Given the description of an element on the screen output the (x, y) to click on. 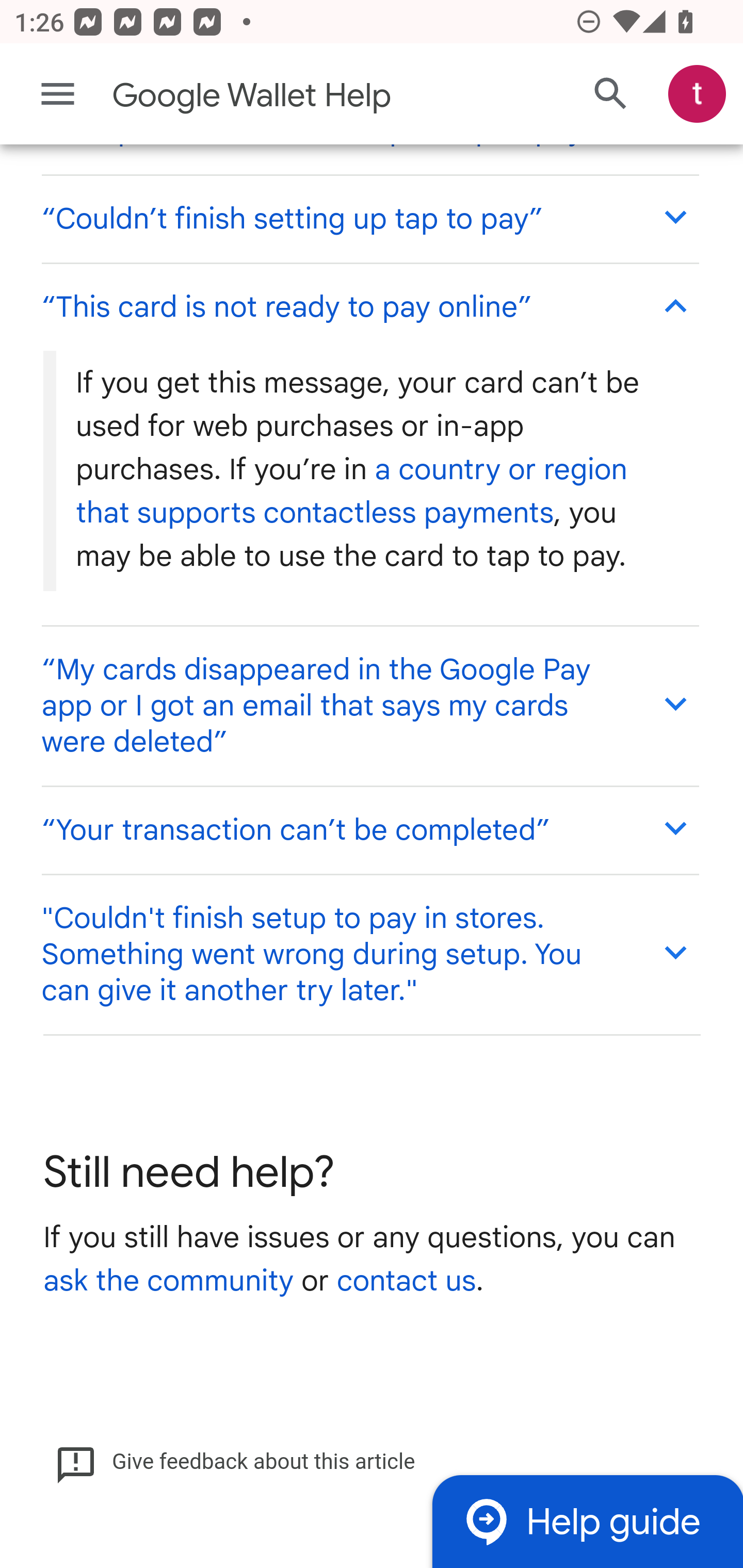
Main menu (58, 93)
Google Wallet Help (292, 96)
Search Help Center (611, 94)
“Couldn’t finish setting up tap to pay” (369, 218)
“This card is not ready to pay online” (369, 306)
“Your transaction can’t be completed” (369, 829)
ask the community (168, 1281)
contact us (406, 1281)
Give feedback about this article (235, 1462)
Help guide (587, 1520)
